Given the description of an element on the screen output the (x, y) to click on. 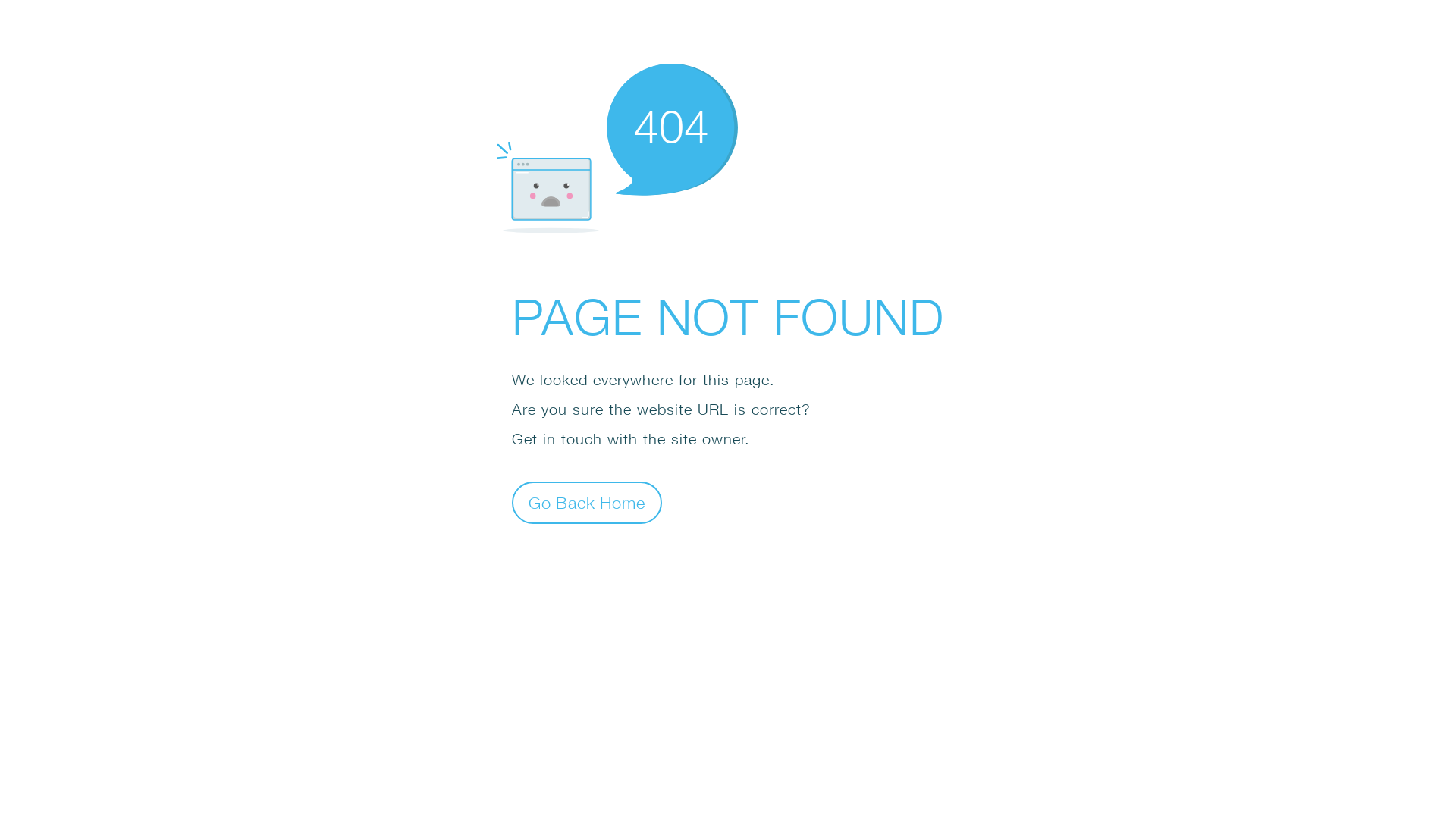
Go Back Home Element type: text (586, 502)
